Given the description of an element on the screen output the (x, y) to click on. 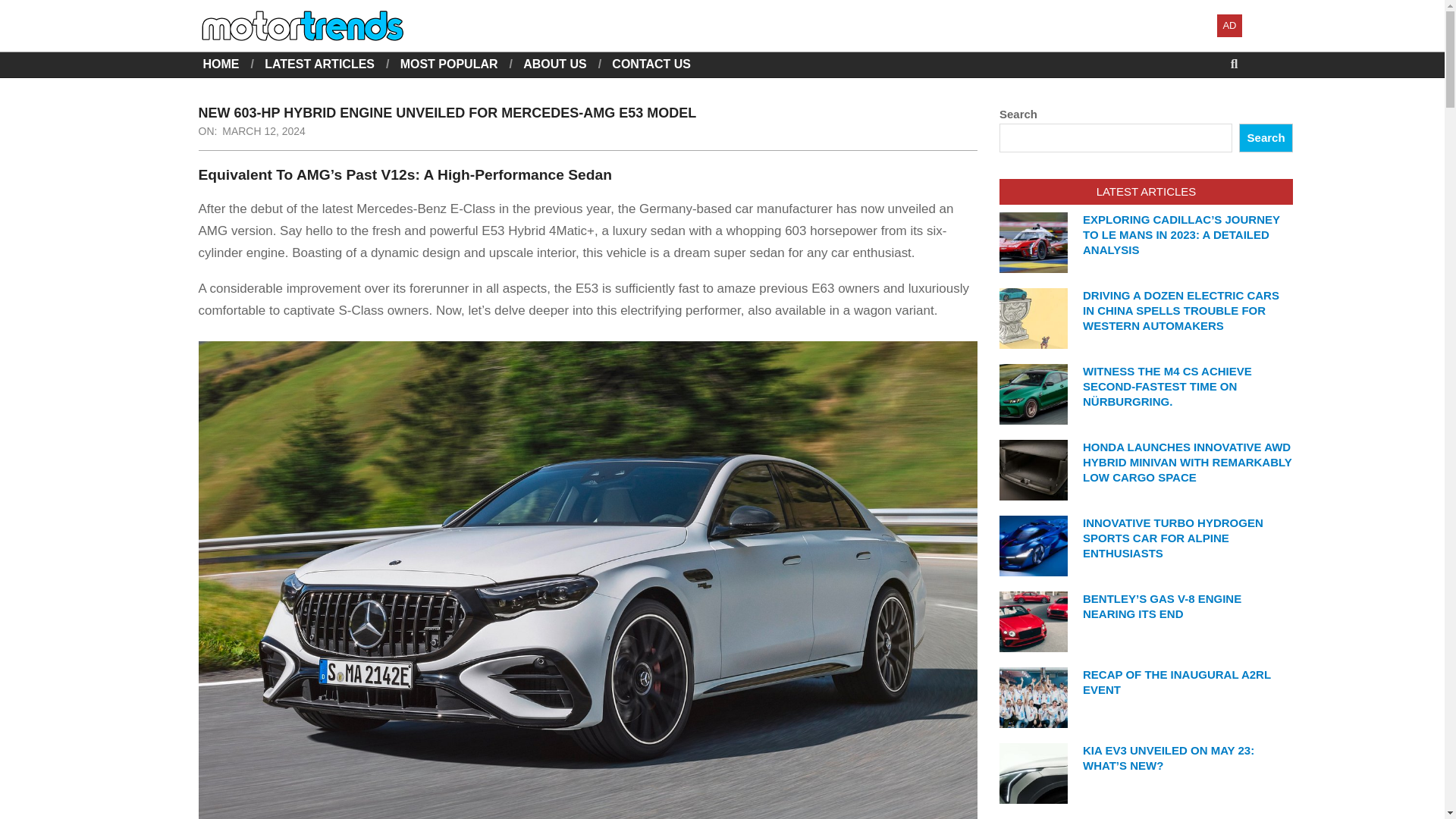
CONTACT US (650, 63)
MOST POPULAR (448, 63)
ABOUT US (554, 63)
Search (24, 9)
Tuesday, March 12, 2024, 8:42 am (263, 131)
LATEST ARTICLES (319, 63)
HOME (221, 63)
Search (1265, 137)
